Given the description of an element on the screen output the (x, y) to click on. 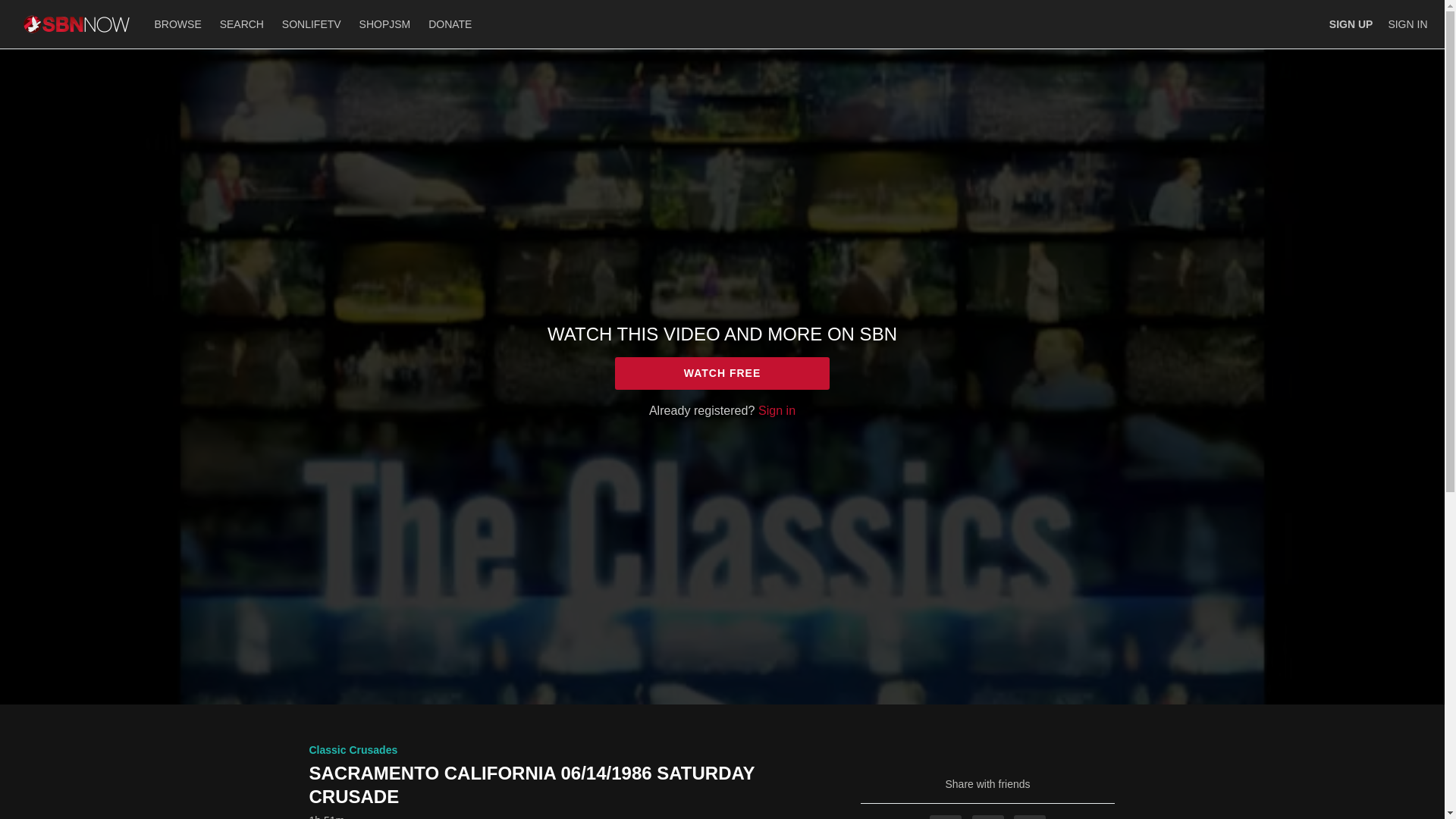
SONLIFETV (312, 24)
Classic Crusades (352, 749)
SEARCH (243, 24)
Skip to main content (48, 7)
Facebook (945, 816)
SIGN IN (1406, 24)
SIGN UP (1351, 24)
Twitter (988, 816)
BROWSE (179, 24)
DONATE (449, 24)
WATCH FREE (721, 373)
Email (1029, 816)
Sign in (776, 409)
SHOPJSM (385, 24)
